Given the description of an element on the screen output the (x, y) to click on. 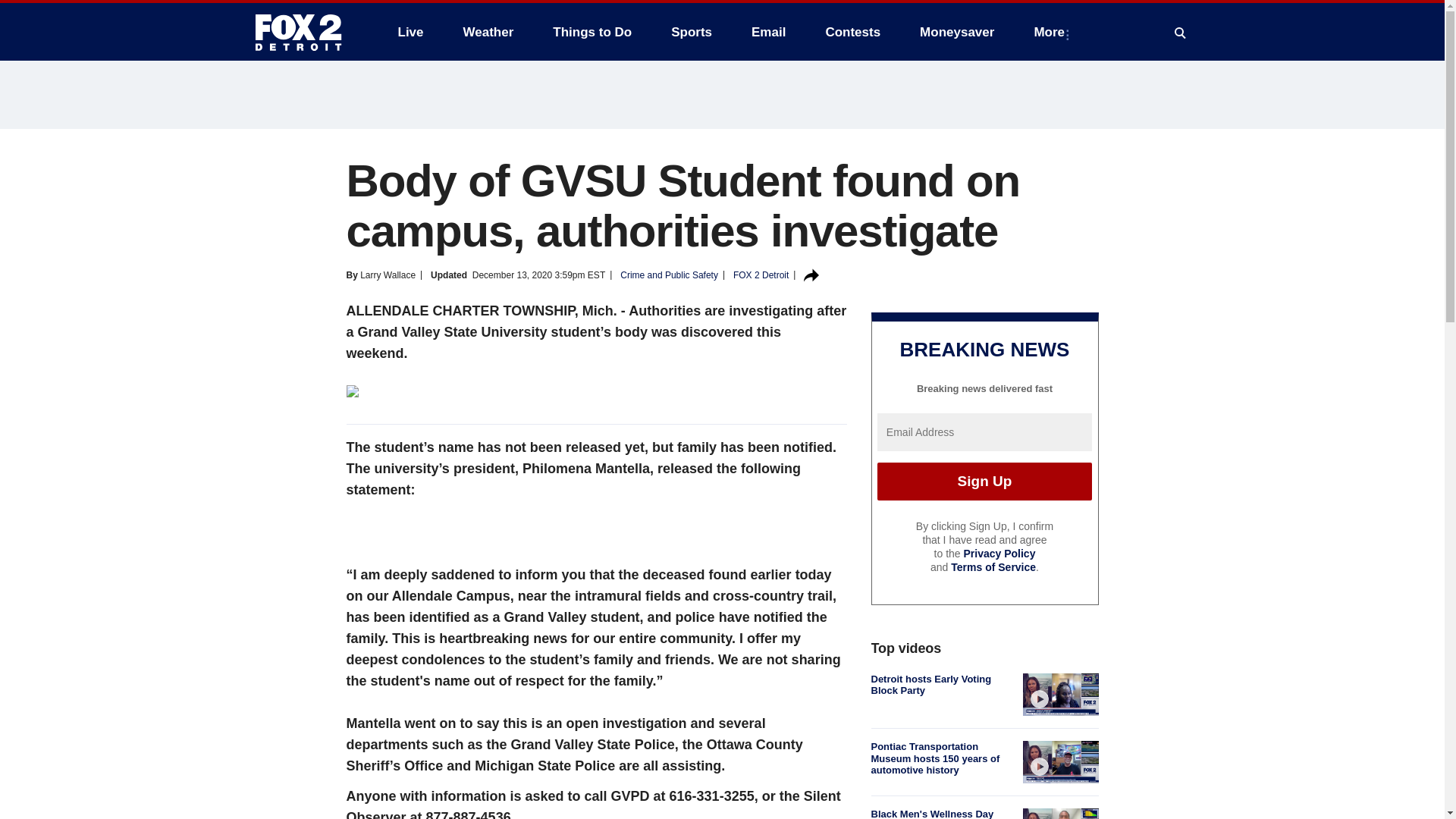
Sports (691, 32)
Email (768, 32)
Moneysaver (956, 32)
Things to Do (591, 32)
Sign Up (984, 481)
Weather (488, 32)
Live (410, 32)
More (1052, 32)
Contests (852, 32)
